Given the description of an element on the screen output the (x, y) to click on. 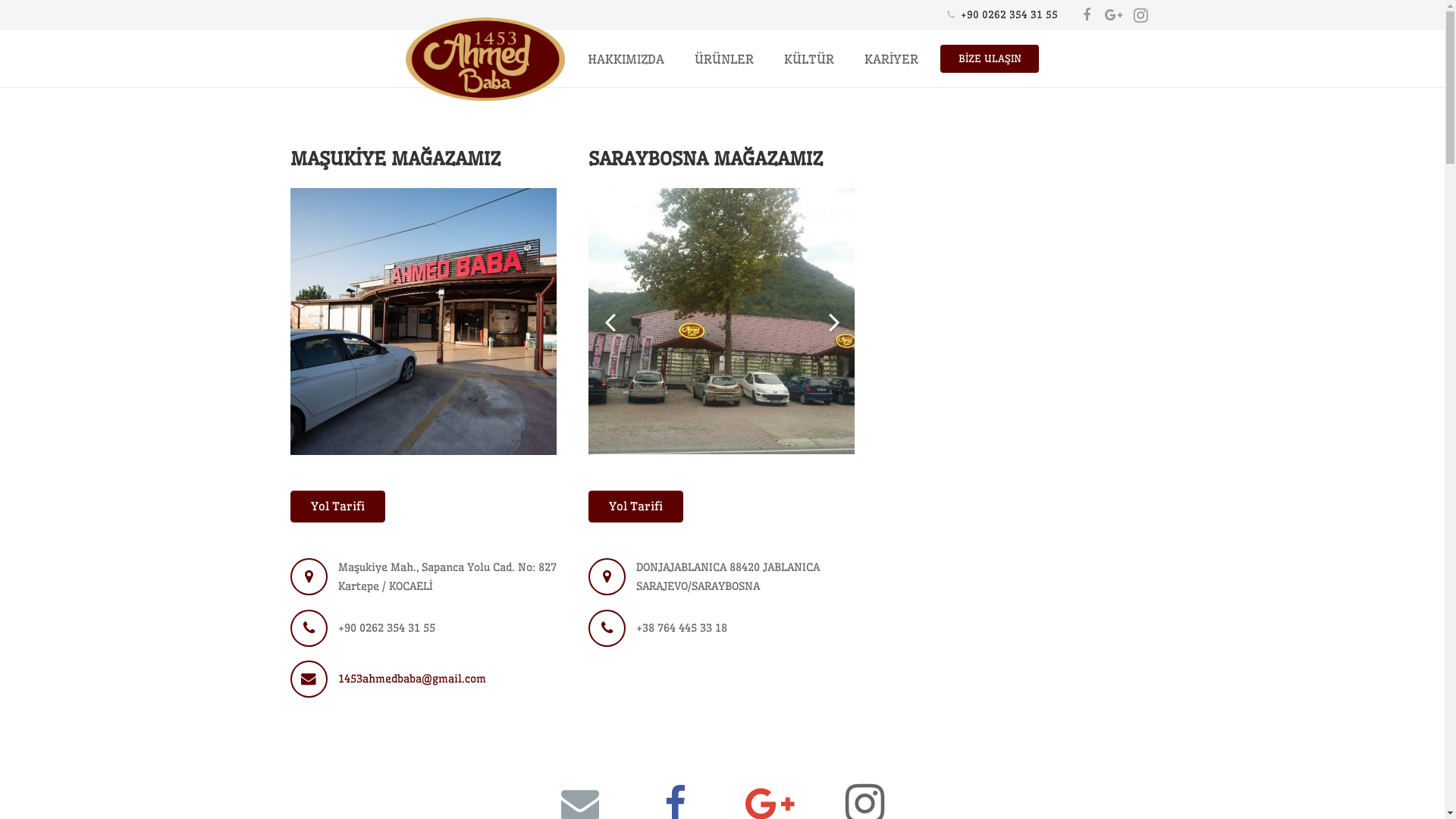
HAKKIMIZDA Element type: text (625, 58)
Yol Tarifi Element type: text (635, 506)
Yol Tarifi Element type: text (336, 506)
1453ahmedbaba@gmail.com Element type: text (412, 678)
